Given the description of an element on the screen output the (x, y) to click on. 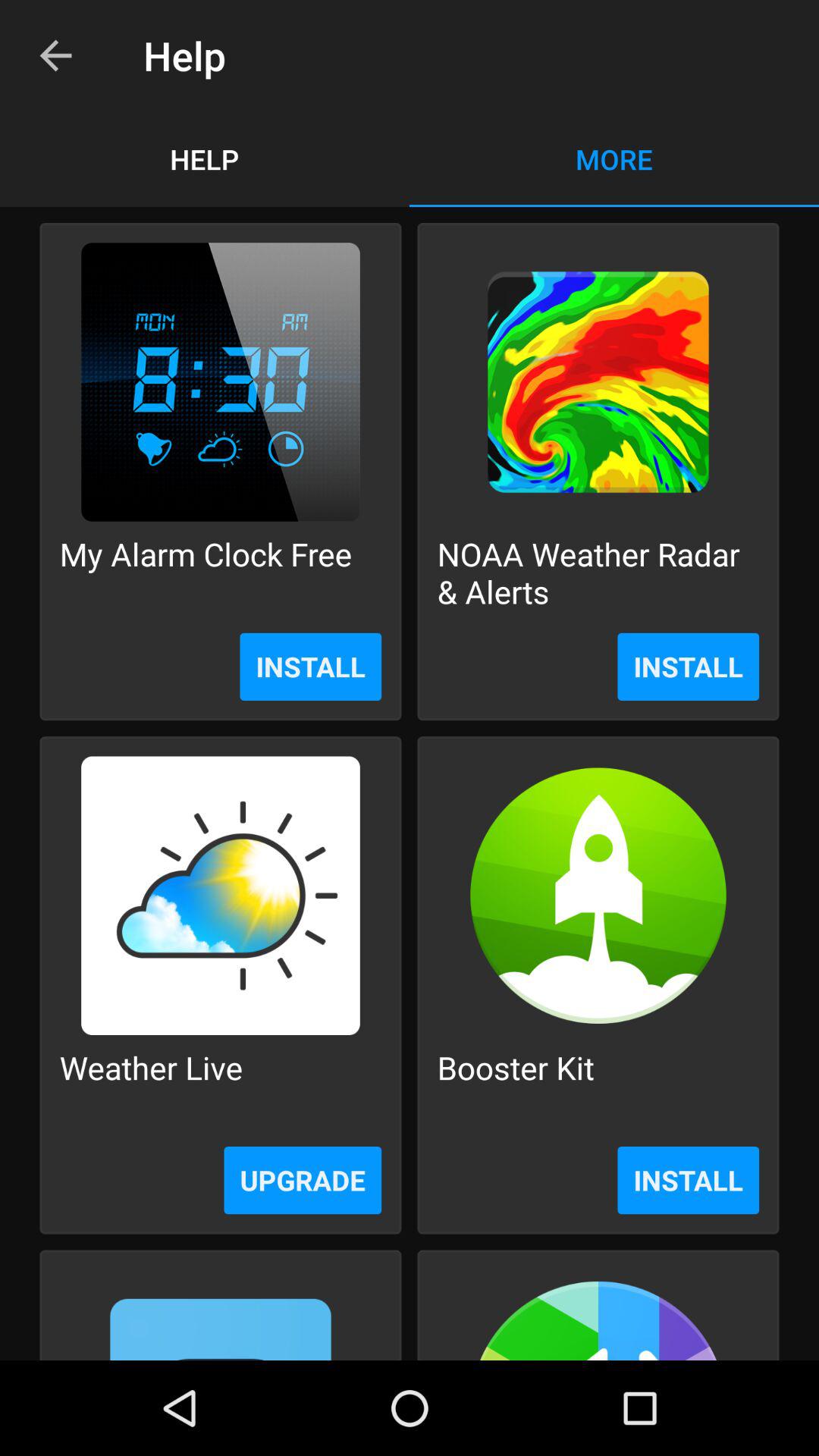
press upgrade (302, 1180)
